Given the description of an element on the screen output the (x, y) to click on. 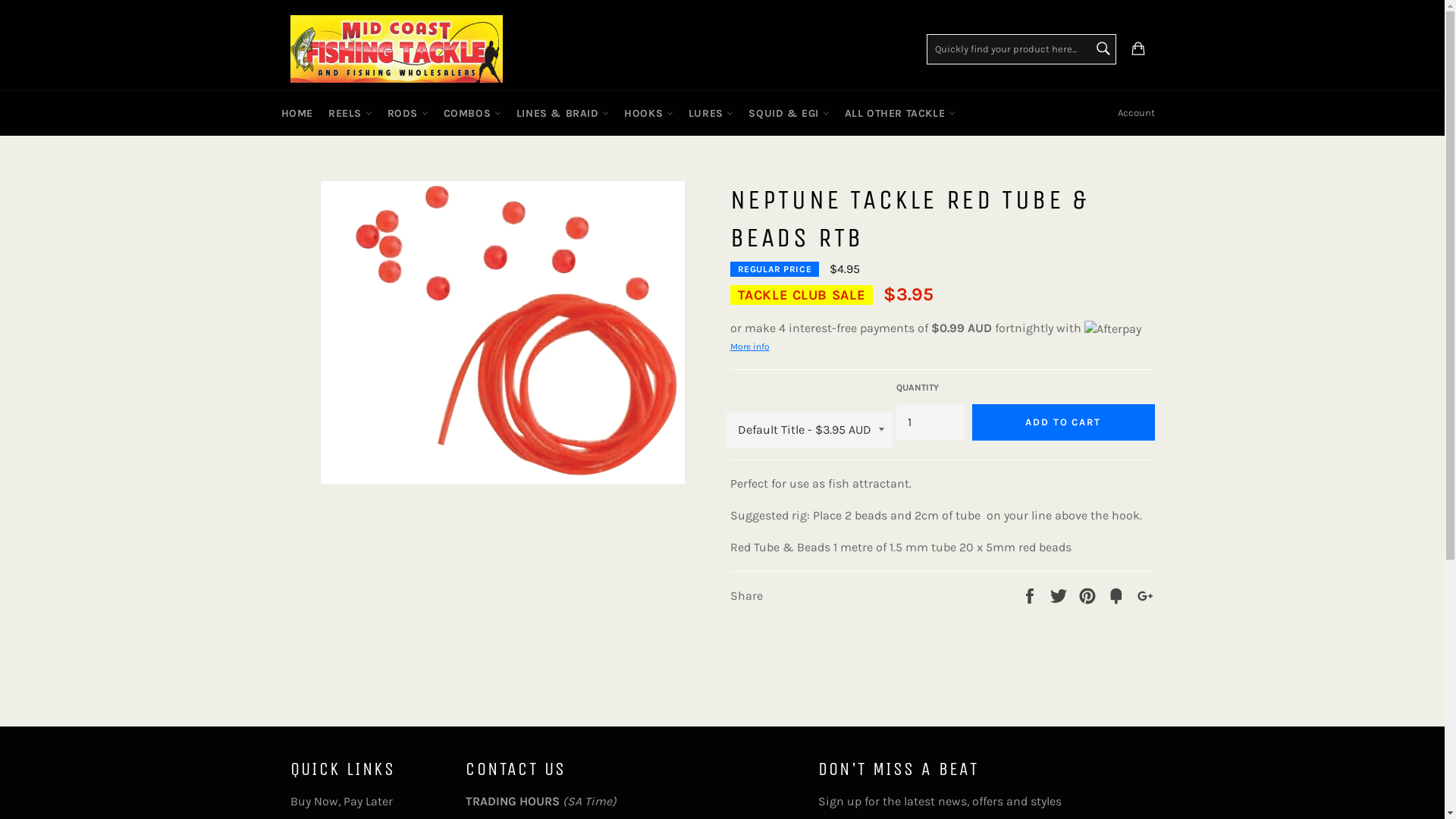
Cart Element type: text (1138, 48)
Pin it Element type: text (1088, 594)
ADD TO CART Element type: text (1063, 422)
LINES & BRAID Element type: text (562, 113)
SQUID & EGI Element type: text (788, 113)
HOOKS Element type: text (648, 113)
LURES Element type: text (711, 113)
Fancy Element type: text (1117, 594)
ALL OTHER TACKLE Element type: text (899, 113)
Search Element type: text (1103, 48)
Tweet Element type: text (1059, 594)
RODS Element type: text (407, 113)
Account Element type: text (1136, 112)
Share Element type: text (1030, 594)
REELS Element type: text (350, 113)
More info Element type: text (748, 345)
HOME Element type: text (296, 113)
Buy Now, Pay Later Element type: text (340, 800)
COMBOS Element type: text (472, 113)
+1 Element type: text (1144, 594)
